Given the description of an element on the screen output the (x, y) to click on. 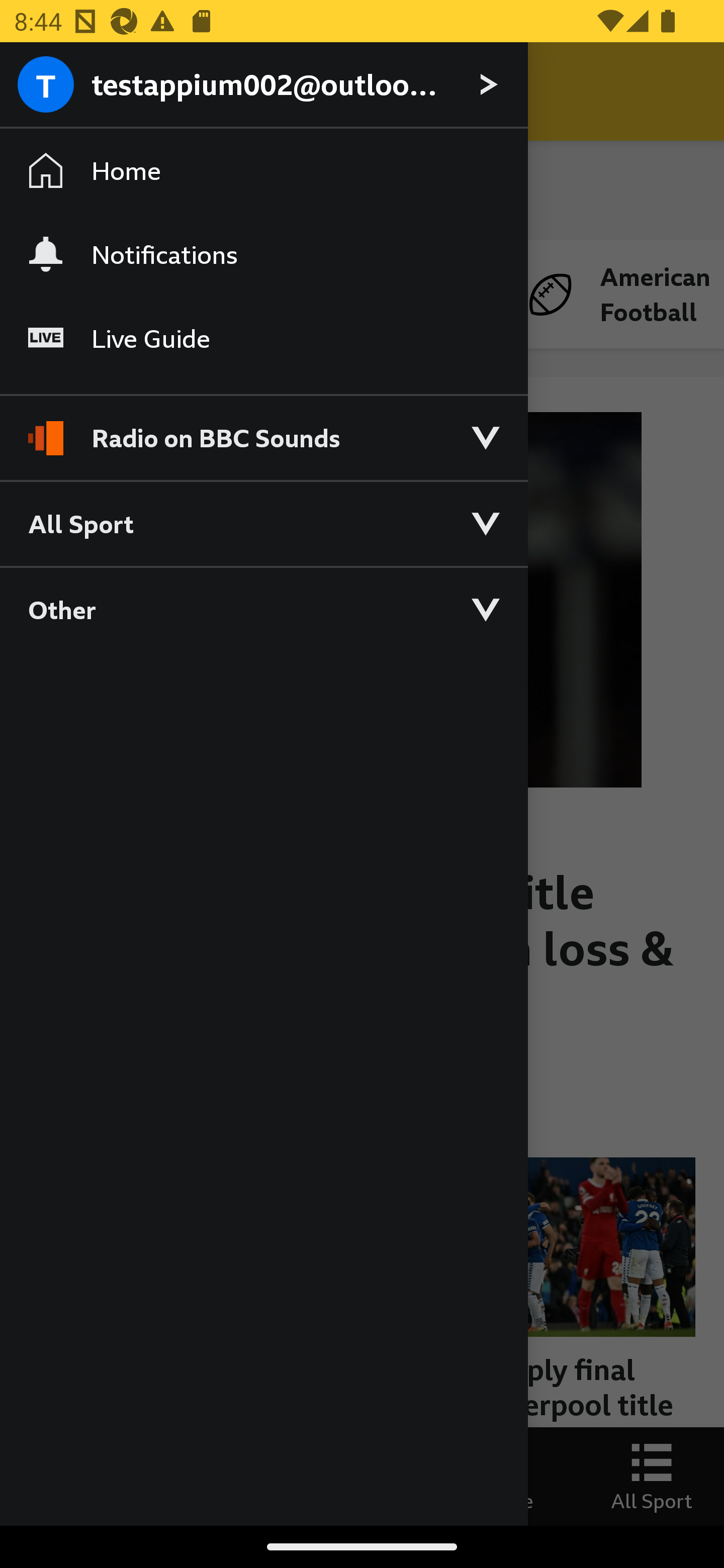
testappium002@outlook.com (263, 85)
Home (263, 170)
Notifications (263, 253)
Live Guide (263, 338)
Radio on BBC Sounds (263, 429)
All Sport (263, 522)
Other (263, 609)
